Given the description of an element on the screen output the (x, y) to click on. 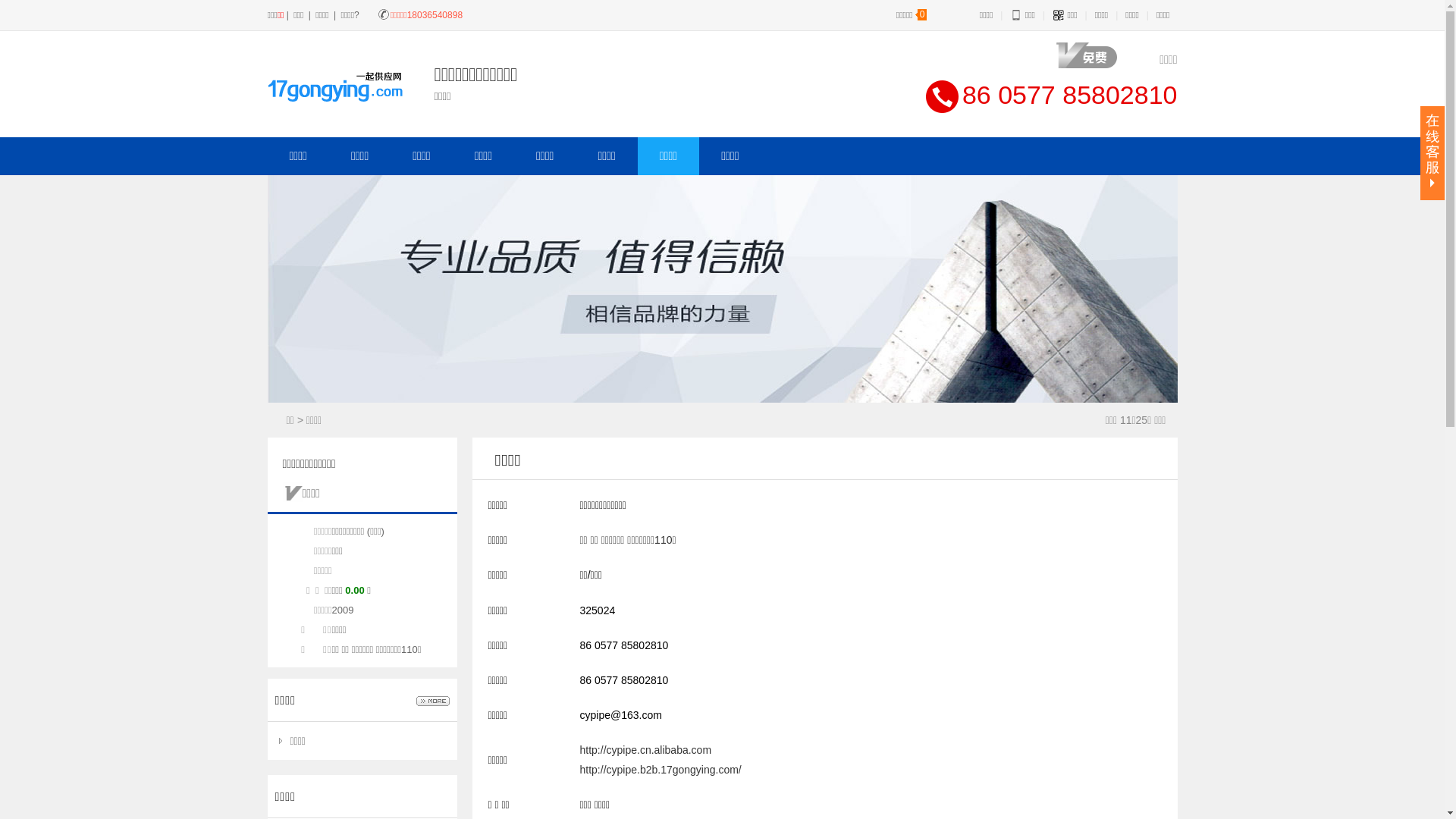
http://cypipe.b2b.17gongying.com/ Element type: text (659, 768)
http://cypipe.cn.alibaba.com Element type: text (645, 749)
